Given the description of an element on the screen output the (x, y) to click on. 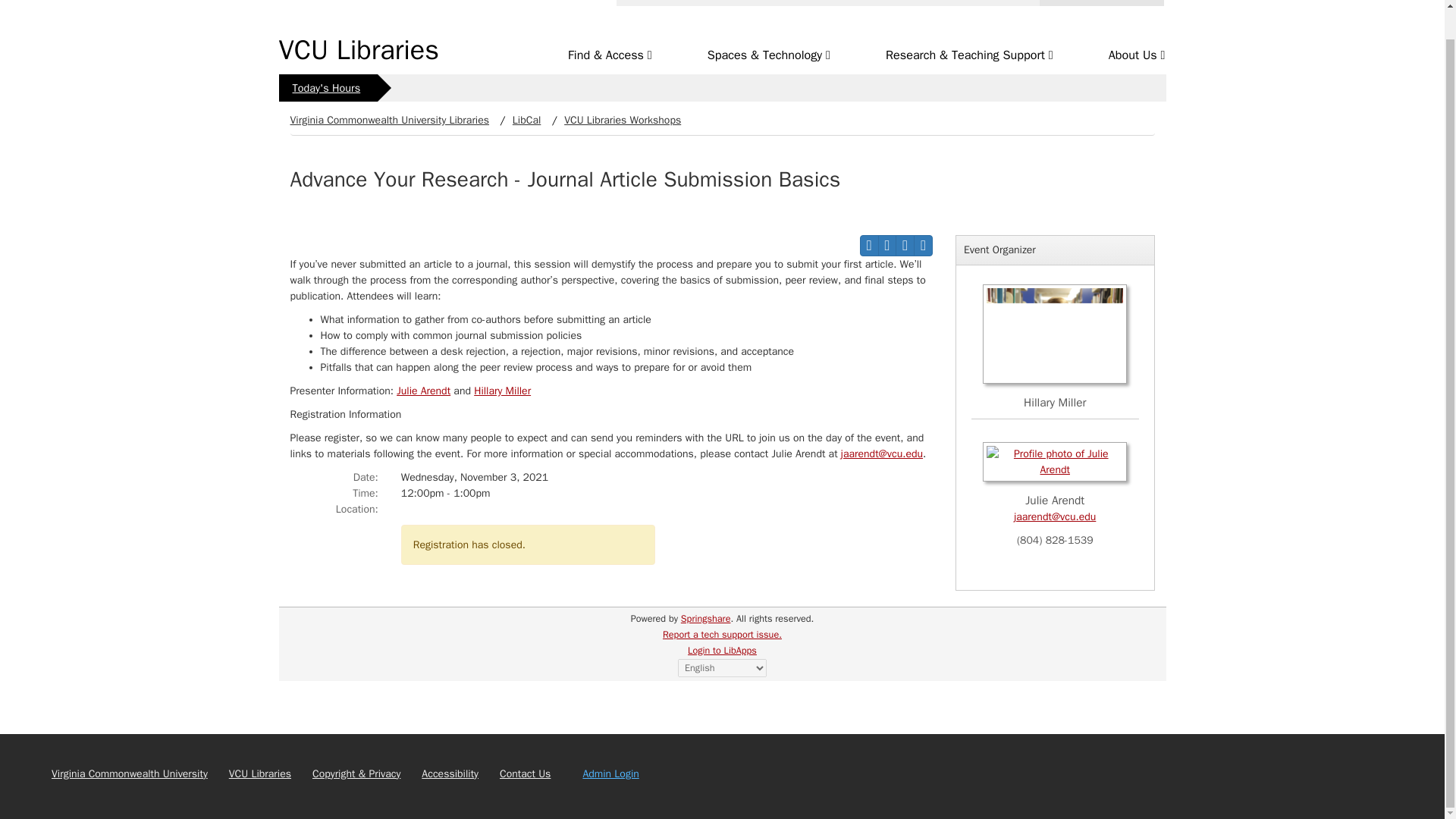
Add to Calendar using iCal (886, 245)
Undergraduate Students (1096, 24)
Share on Facebook (904, 245)
Share on Twitter (923, 245)
VCU Libraries (359, 49)
Print page (869, 245)
Graduate Students (1096, 15)
Resources for... (1101, 2)
libcal-us-5 (654, 618)
